Given the description of an element on the screen output the (x, y) to click on. 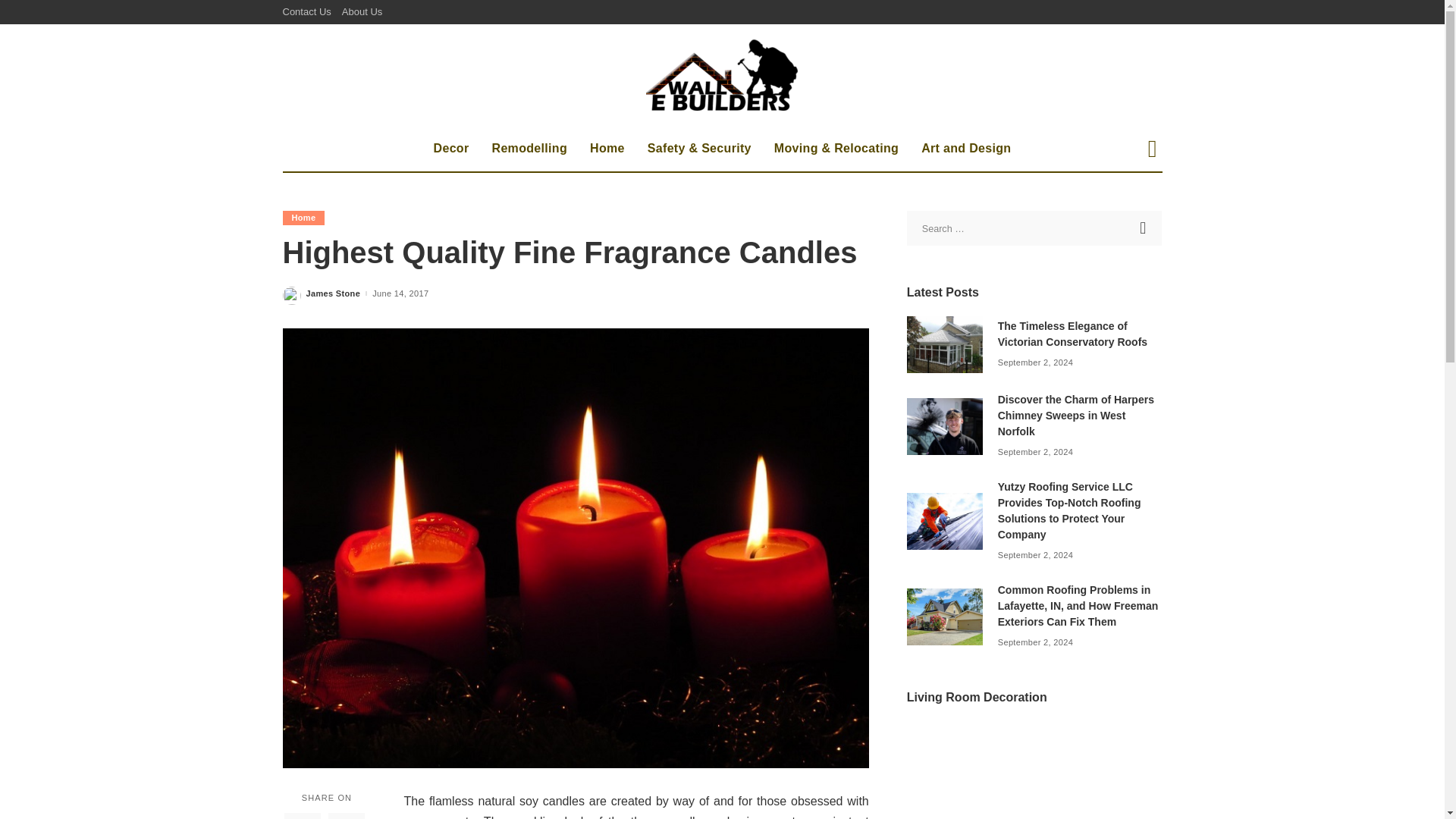
Home (607, 148)
Art and Design (966, 148)
Home (303, 217)
Search (1143, 227)
Contact Us (309, 11)
Wall-Ebuilders (721, 74)
Search (1143, 227)
Decor (451, 148)
Twitter (345, 816)
About Us (361, 11)
